Given the description of an element on the screen output the (x, y) to click on. 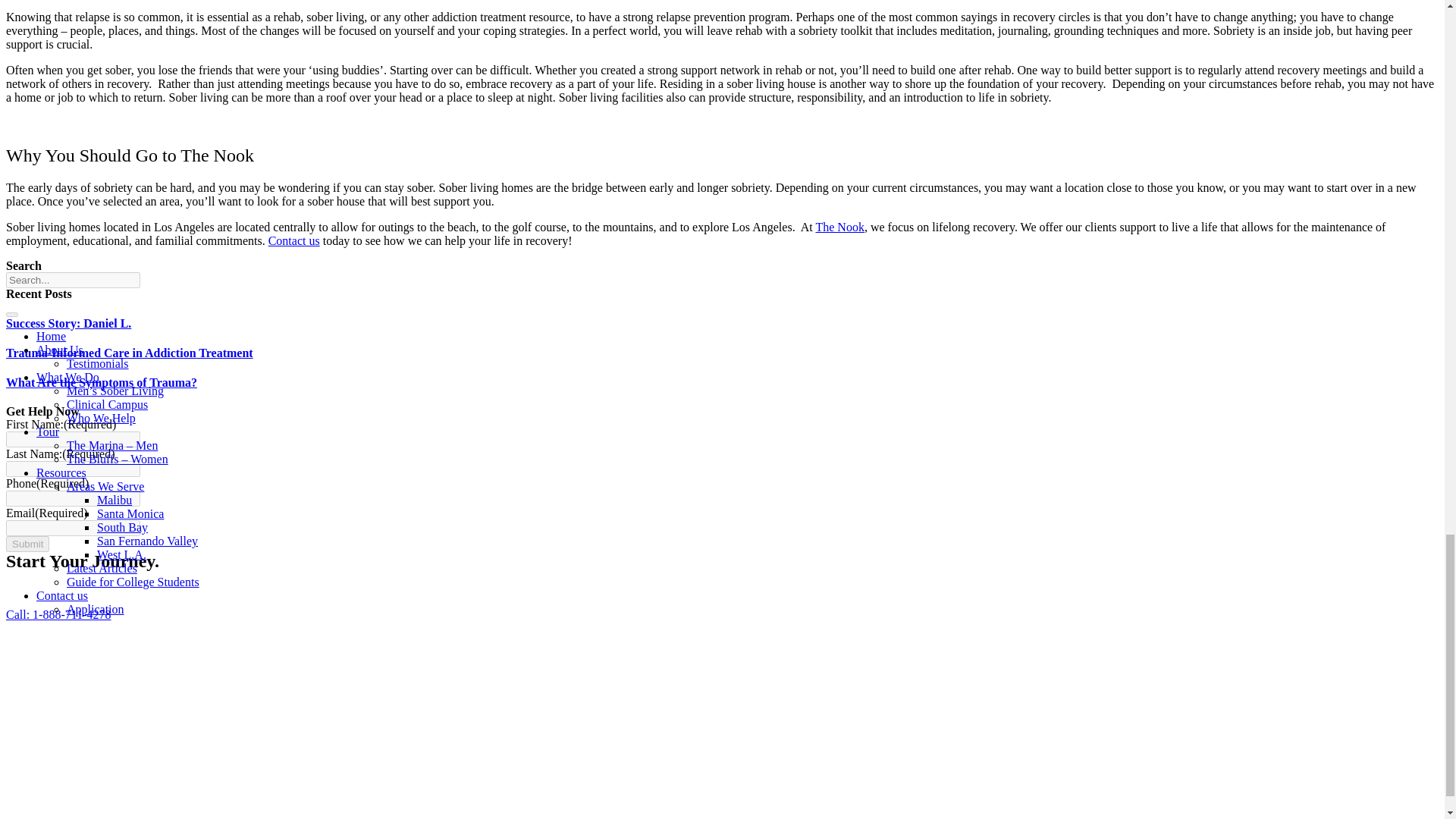
Submit (27, 544)
Search (72, 279)
